Given the description of an element on the screen output the (x, y) to click on. 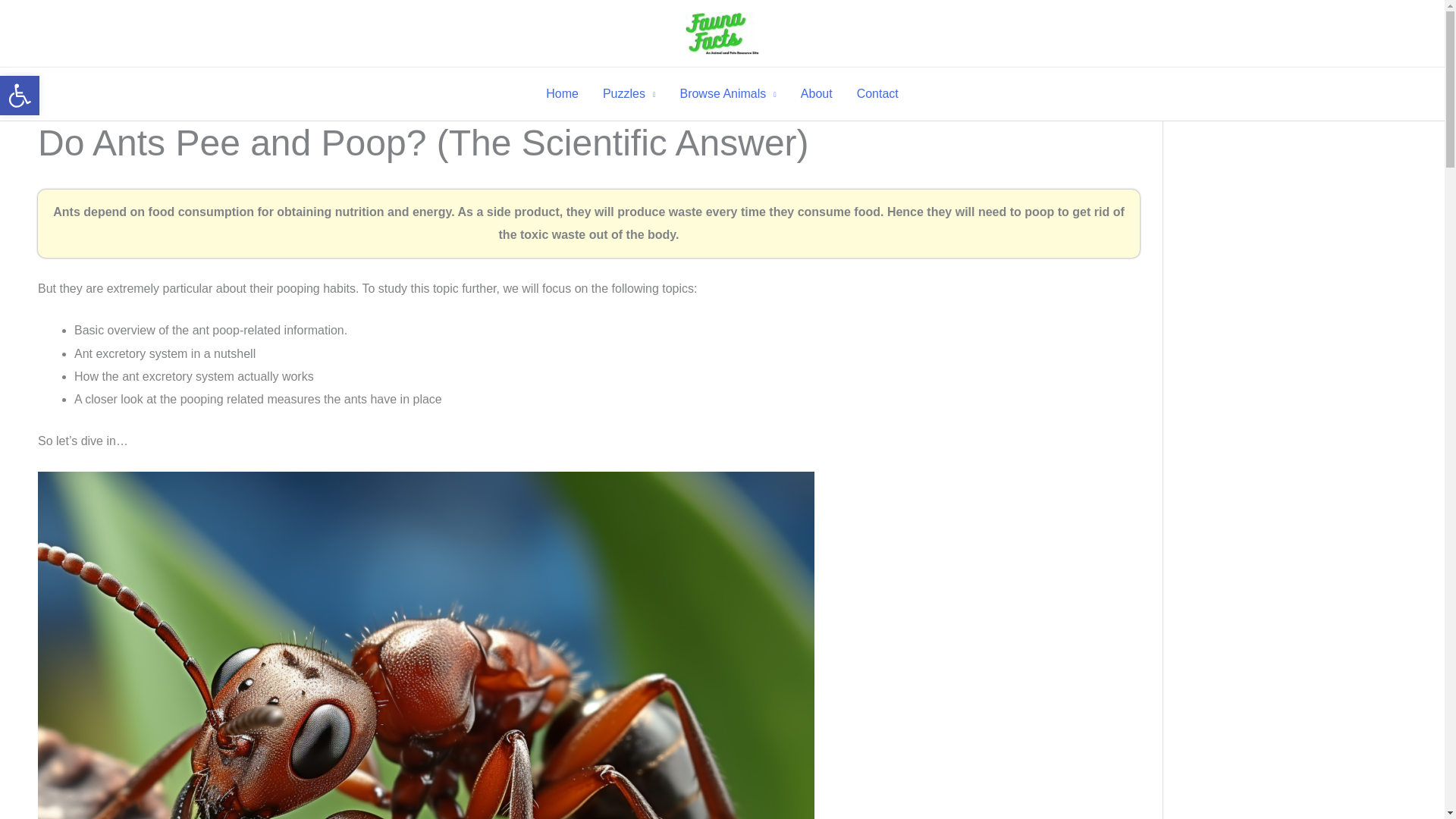
Puzzles (629, 93)
About (816, 93)
Home (562, 93)
Browse Animals (19, 95)
Contact (726, 93)
Accessibility Tools (877, 93)
Accessibility Tools (19, 95)
